Given the description of an element on the screen output the (x, y) to click on. 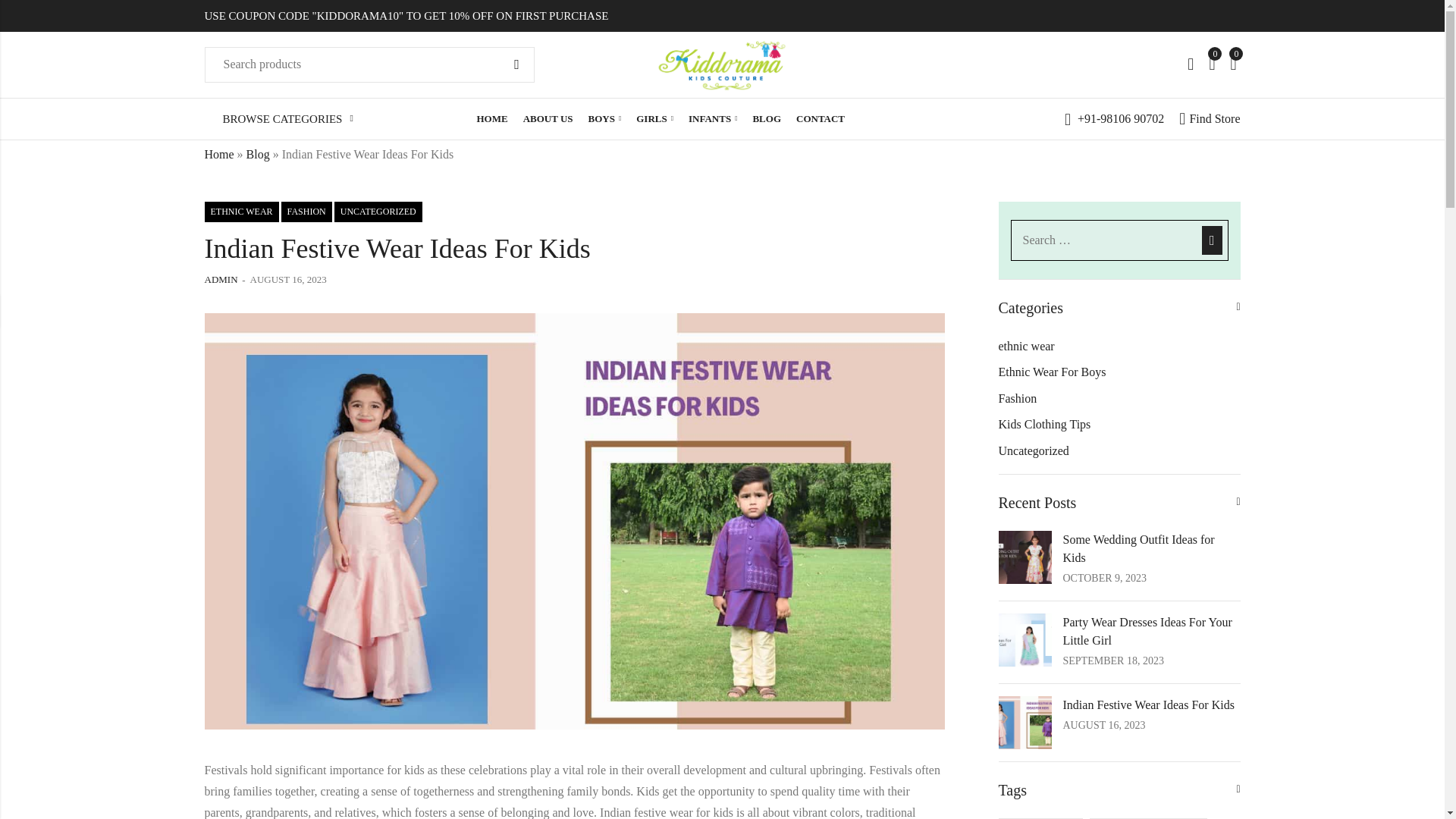
ETHNIC WEAR (242, 211)
GIRLS (654, 118)
CONTACT (820, 118)
Home (219, 154)
Search (516, 64)
UNCATEGORIZED (378, 211)
FASHION (306, 211)
Find Store (1209, 119)
Blog (257, 154)
ABOUT US (547, 118)
INFANTS (712, 118)
BLOG (766, 118)
BOYS (604, 118)
AUGUST 16, 2023 (288, 280)
0 (1211, 64)
